Given the description of an element on the screen output the (x, y) to click on. 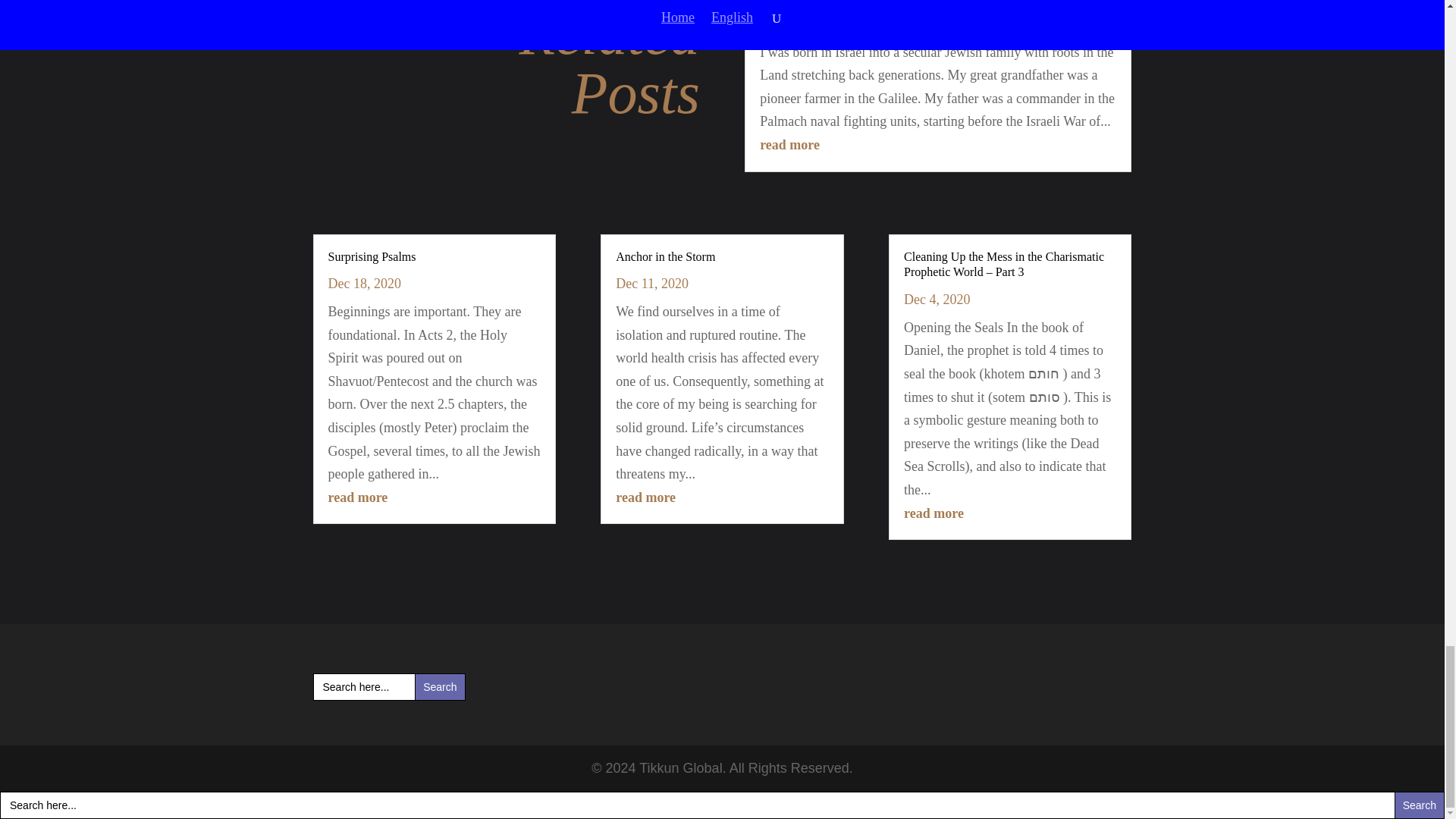
Search (439, 687)
read more (933, 513)
read more (357, 497)
Surprising Psalms (370, 256)
read more (645, 497)
Search (439, 687)
read more (789, 144)
How I Came to Faith (810, 1)
Search (439, 687)
Anchor in the Storm (664, 256)
